Given the description of an element on the screen output the (x, y) to click on. 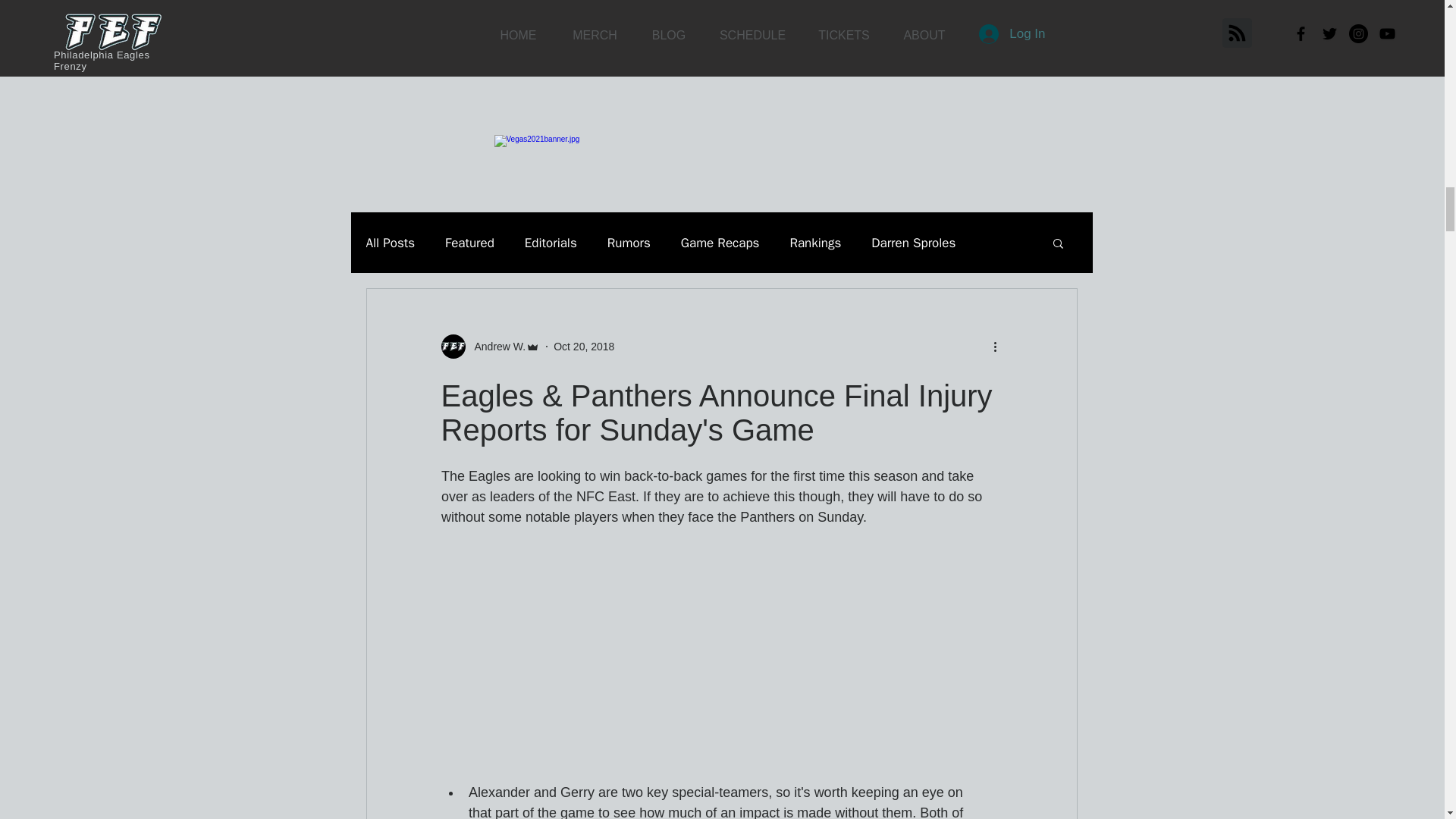
Rumors (628, 242)
Featured (470, 242)
Log In (1011, 8)
Andrew W. (495, 346)
Editorials (550, 242)
Game Recaps (720, 242)
Oct 20, 2018 (583, 346)
Darren Sproles (912, 242)
Rankings (815, 242)
All Posts (389, 242)
